Given the description of an element on the screen output the (x, y) to click on. 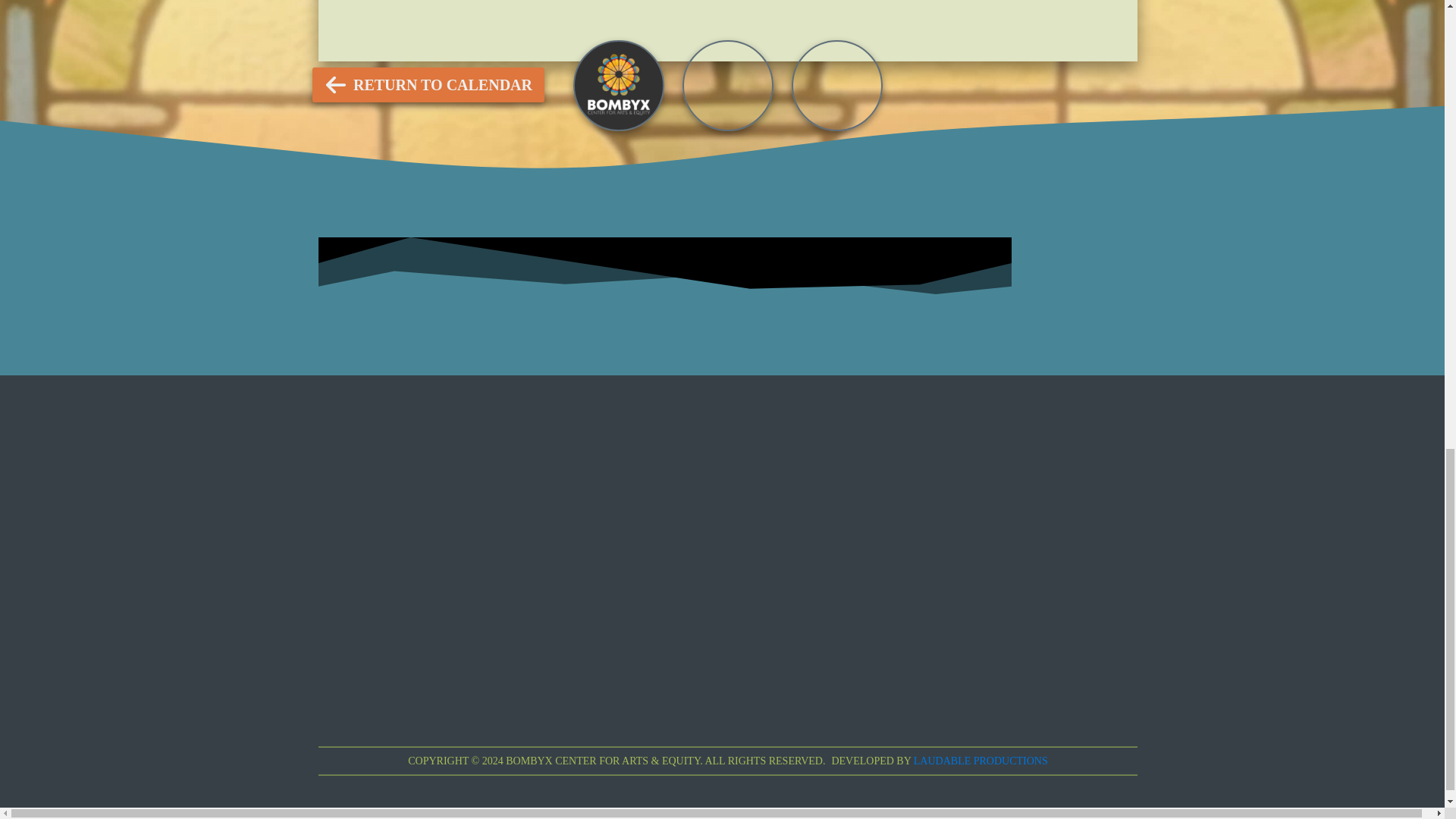
RETURN TO CALENDAR (428, 84)
EVENTS (628, 27)
HOME (834, 27)
ARTISTS (735, 27)
